Given the description of an element on the screen output the (x, y) to click on. 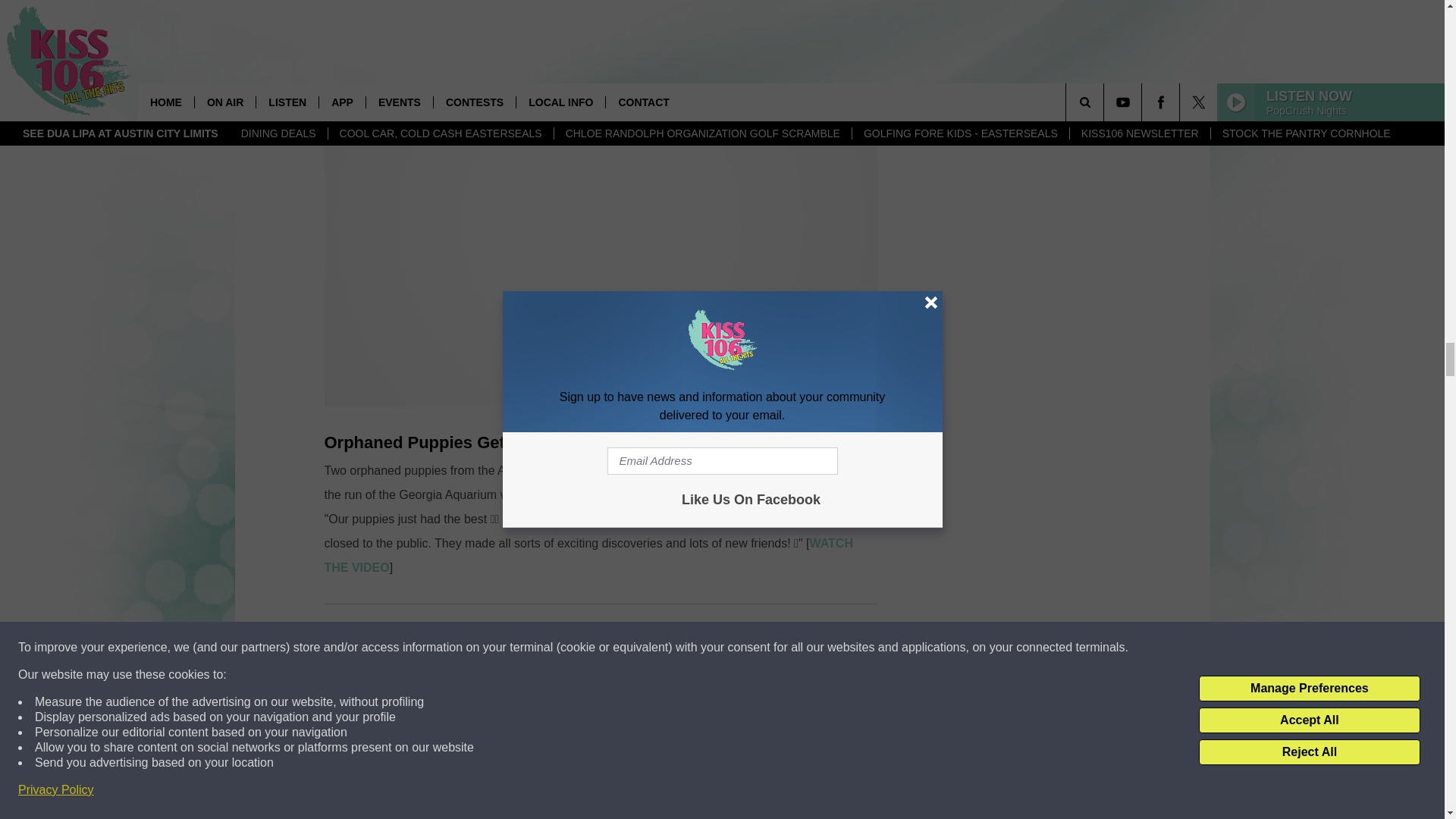
Edited (600, 542)
